Given the description of an element on the screen output the (x, y) to click on. 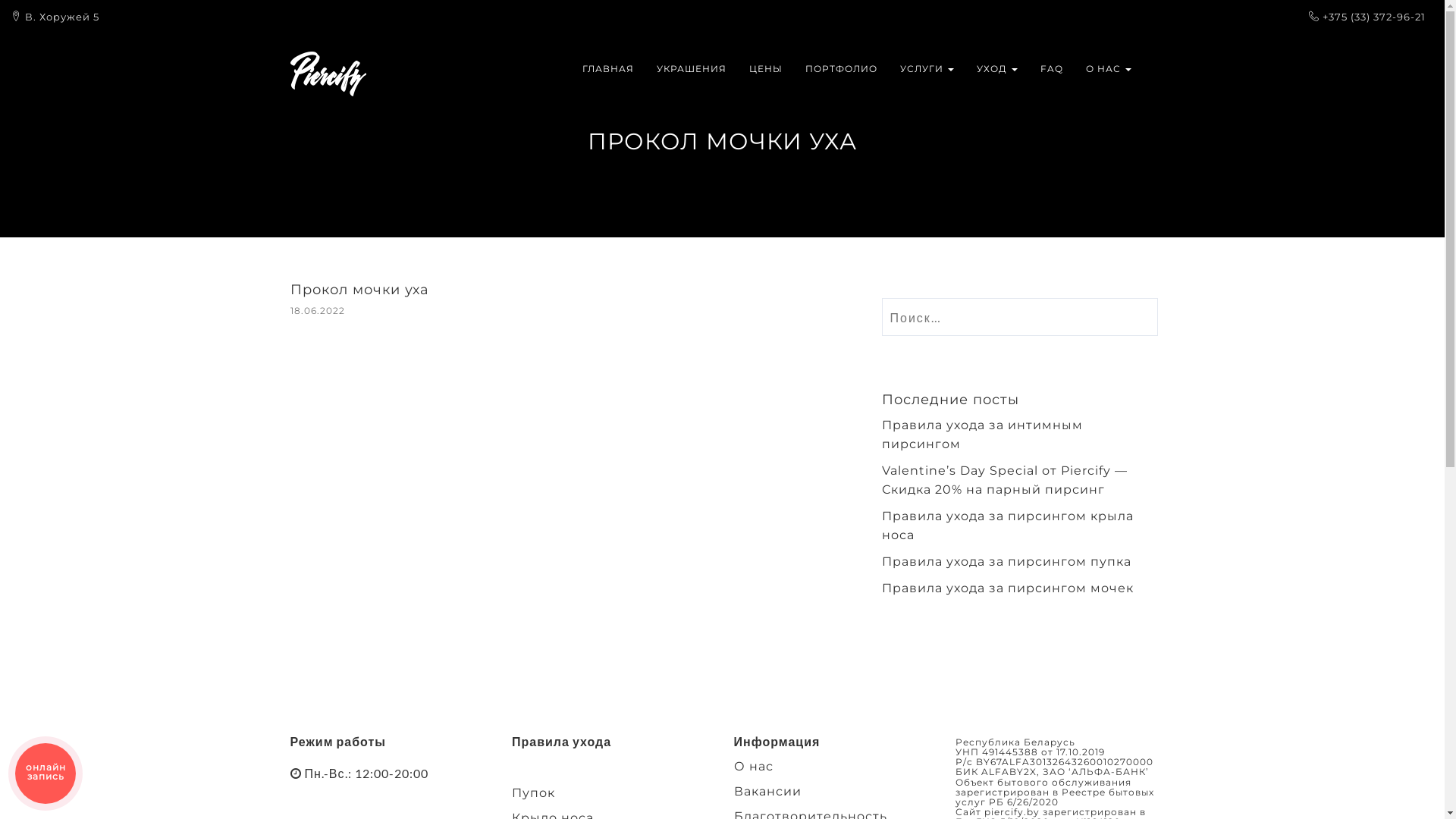
+375 (33) 372-96-21 Element type: text (1373, 16)
FAQ Element type: text (1050, 68)
